Given the description of an element on the screen output the (x, y) to click on. 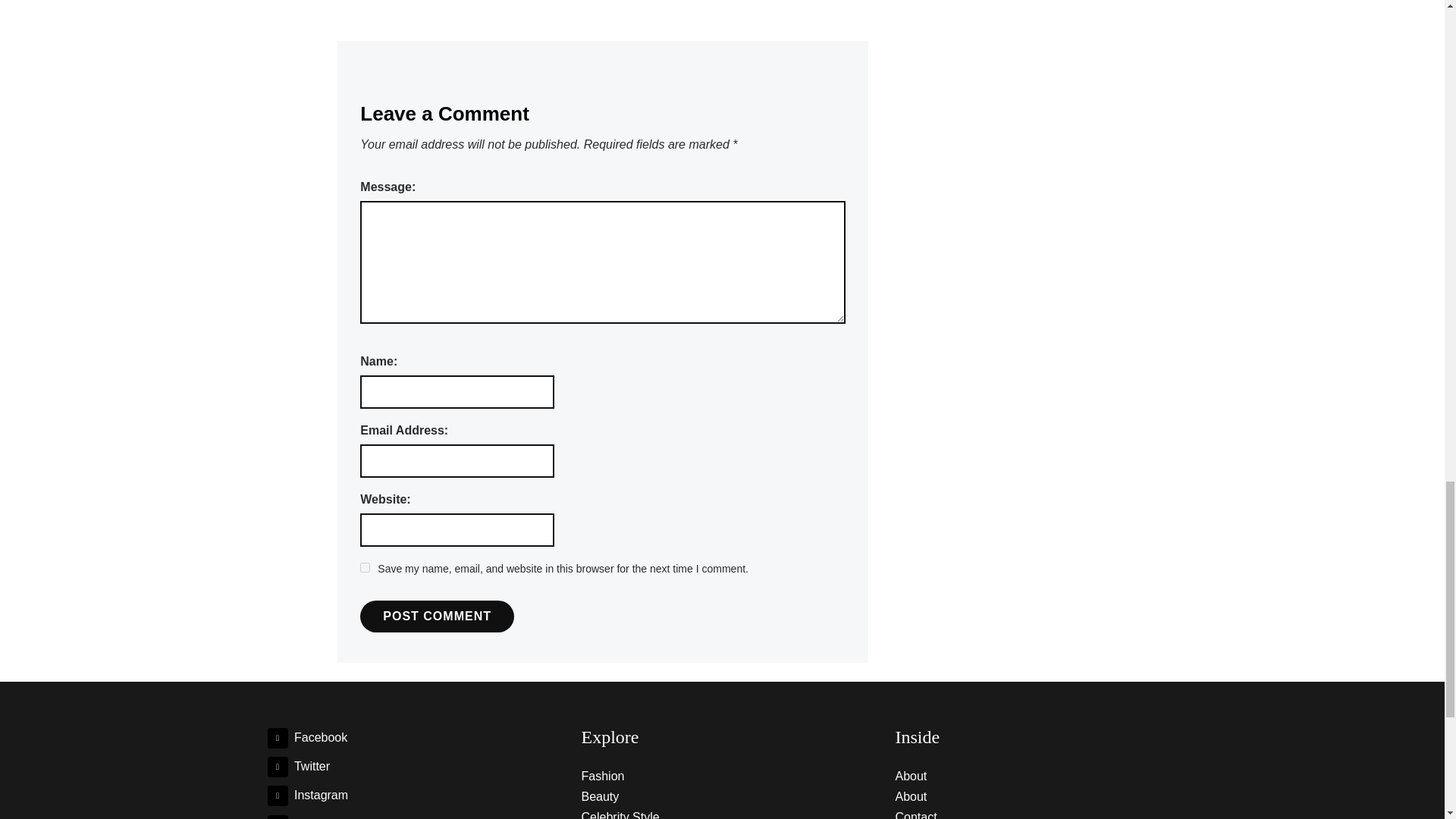
Twitter (298, 766)
Facebook (306, 737)
yes (364, 567)
Instagram (306, 794)
Post Comment (436, 616)
